Given the description of an element on the screen output the (x, y) to click on. 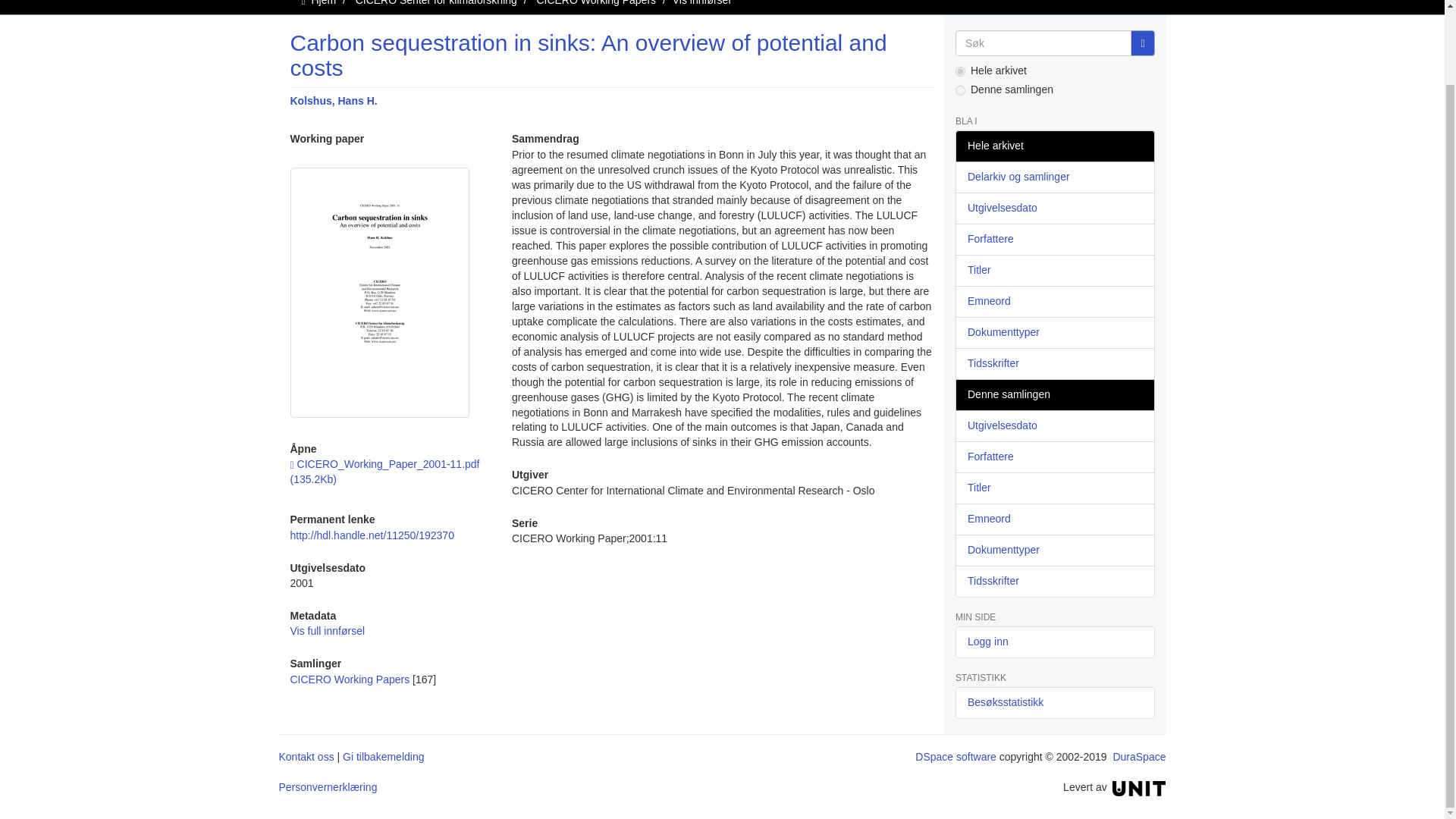
Emneord (1054, 301)
CICERO Senter for klimaforskning (435, 2)
Delarkiv og samlinger (1054, 177)
Utgivelsesdato (1054, 208)
CICERO Working Papers (349, 679)
Forfattere (1054, 239)
Titler (1054, 270)
Dokumenttyper (1054, 332)
Unit (1139, 787)
Hjem (323, 2)
Hele arkivet (1054, 146)
Tidsskrifter (1054, 364)
Kolshus, Hans H. (333, 101)
CICERO Working Papers (595, 2)
